Given the description of an element on the screen output the (x, y) to click on. 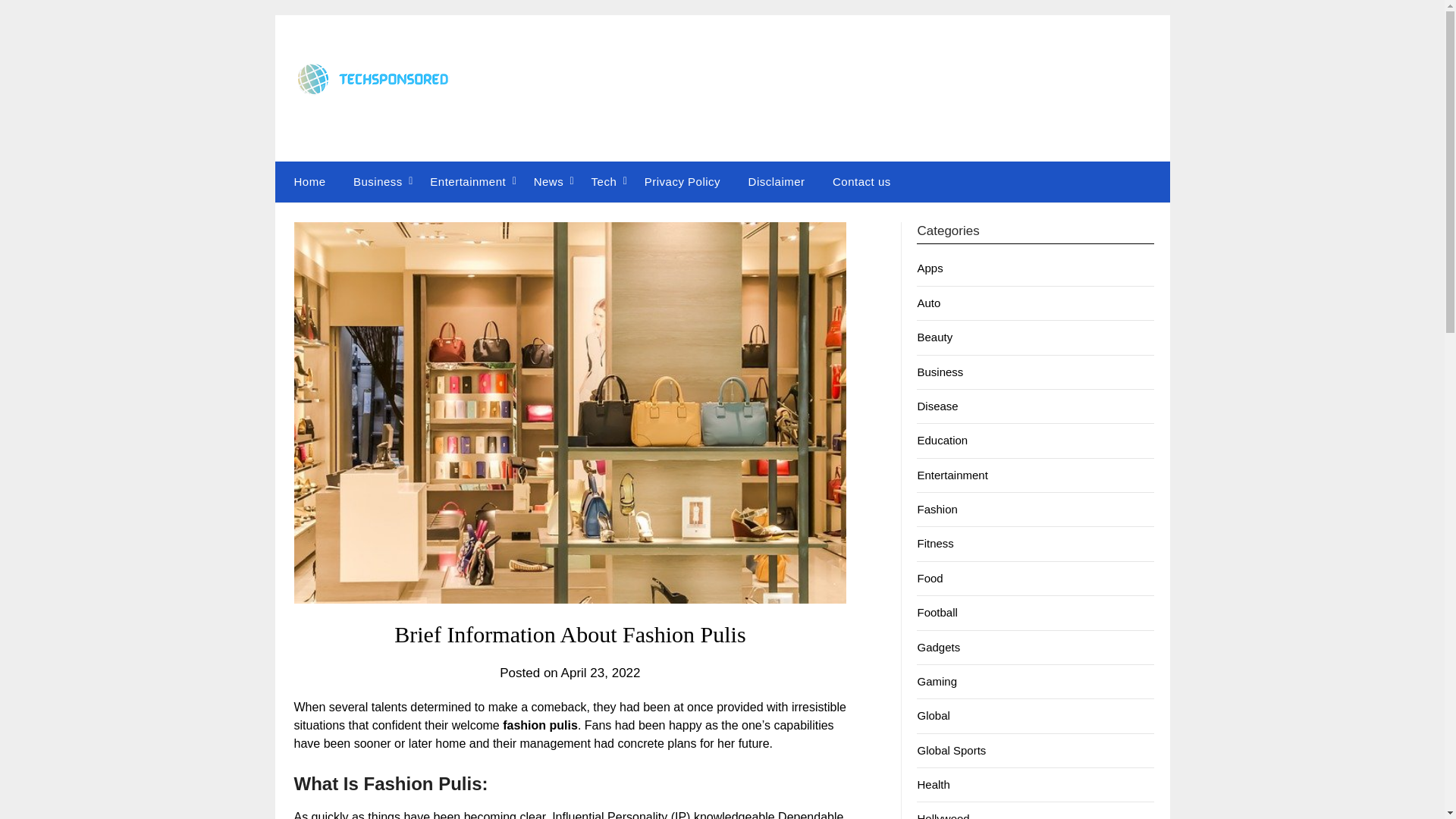
Entertainment (952, 474)
Entertainment (467, 181)
Business (377, 181)
Business (939, 371)
Apps (929, 267)
Gaming (936, 680)
News (548, 181)
Fitness (935, 543)
Disease (937, 405)
Disclaimer (776, 181)
